Given the description of an element on the screen output the (x, y) to click on. 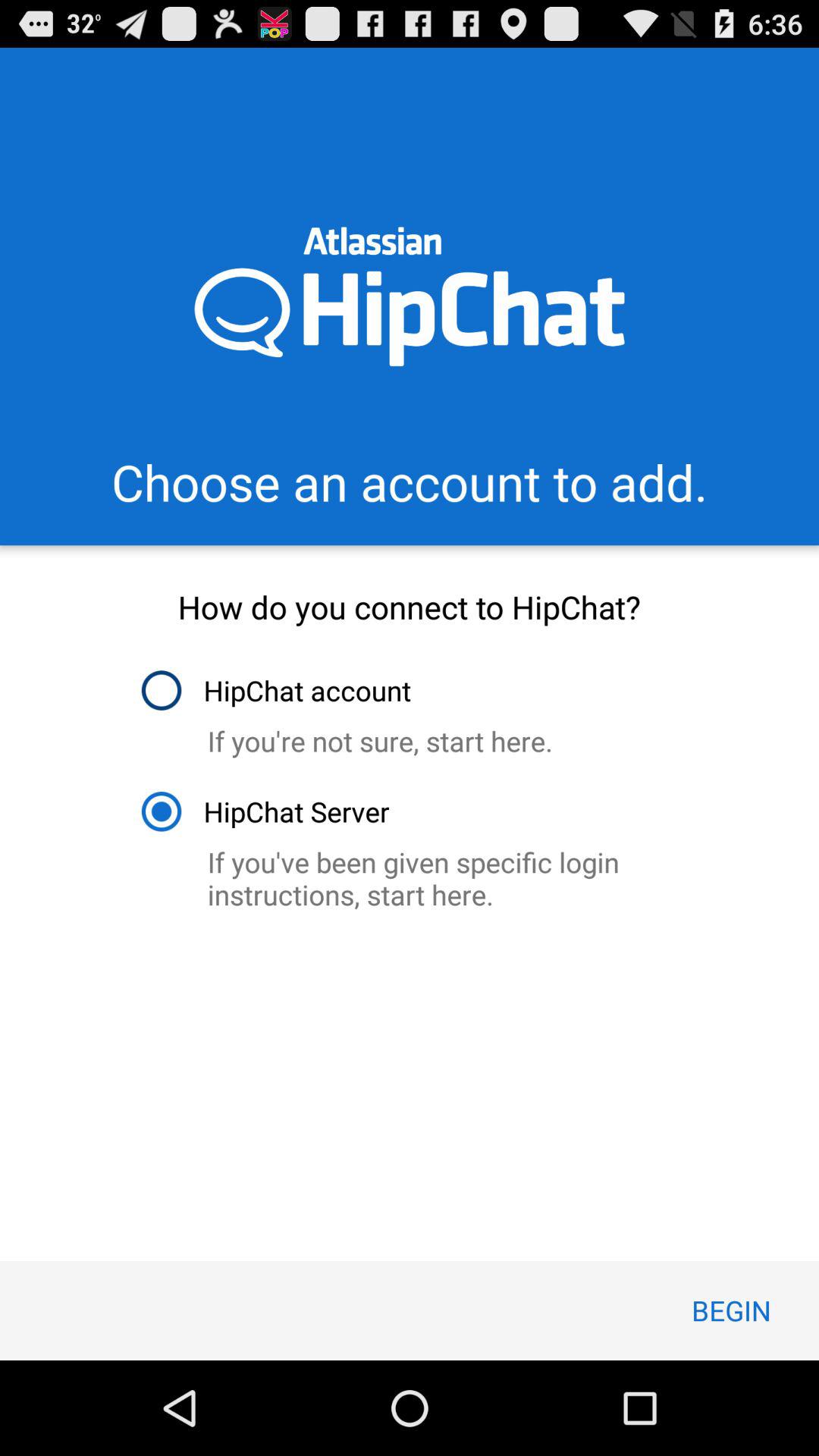
launch item above if you ve item (264, 811)
